Given the description of an element on the screen output the (x, y) to click on. 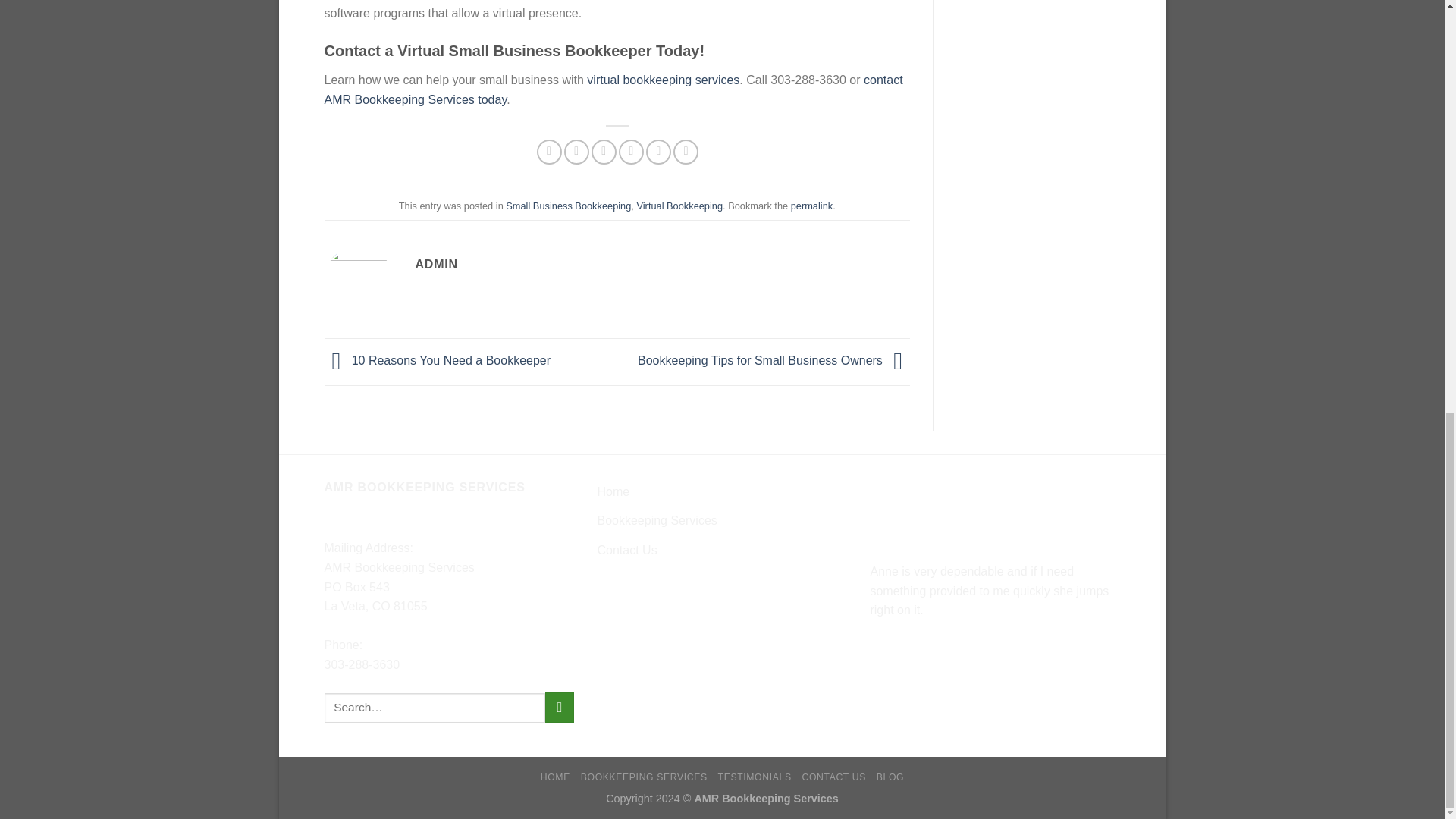
BOOKKEEPING SERVICES (643, 777)
Contact Us (626, 550)
permalink (811, 205)
Small Business Bookkeeping (567, 205)
Virtual Bookkeeping (679, 205)
Permalink to What do Bookkeepers do for Small Businesses? (811, 205)
Bookkeeping Services (656, 520)
10 Reasons You Need a Bookkeeper (437, 359)
TESTIMONIALS (754, 777)
HOME (555, 777)
Home (612, 491)
CONTACT US (834, 777)
virtual bookkeeping services (662, 79)
